Given the description of an element on the screen output the (x, y) to click on. 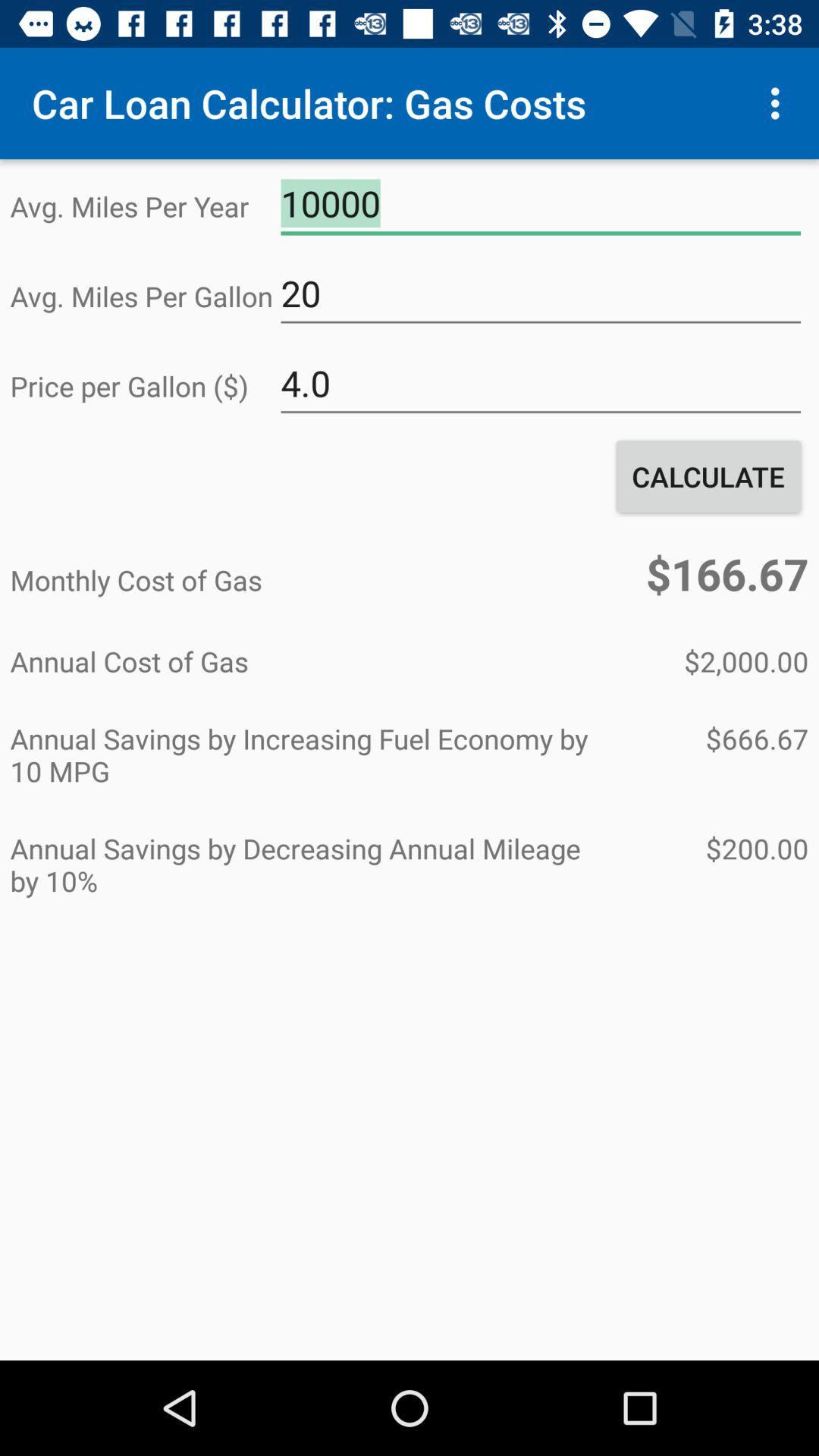
press the item to the right of car loan calculator icon (779, 103)
